Given the description of an element on the screen output the (x, y) to click on. 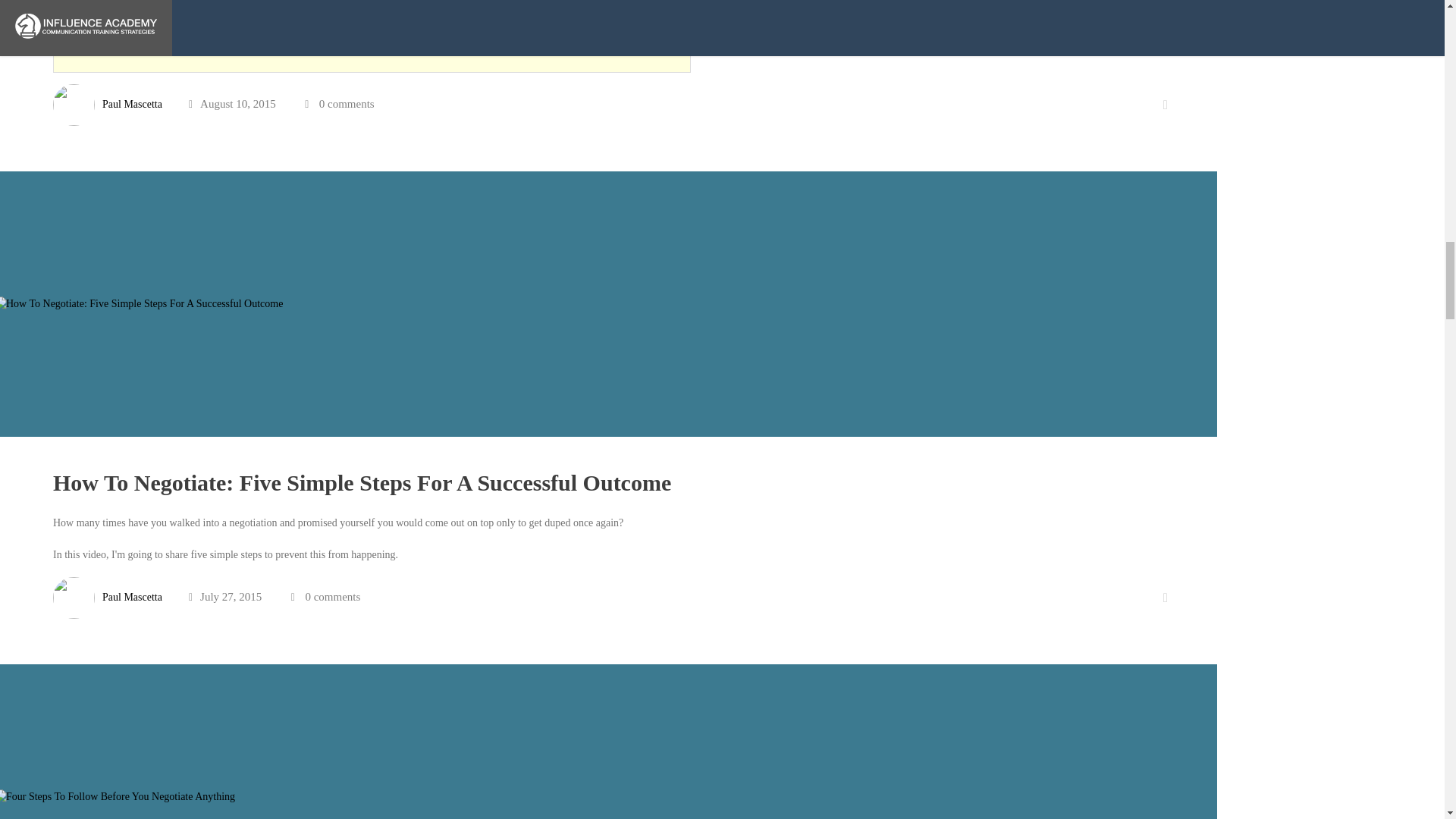
View all posts by Paul Mascetta (131, 103)
Paul Mascetta (131, 103)
5:55 pm (232, 103)
August 10, 2015 (232, 103)
Click here to access The Alliance Code Quick Start Pack (185, 37)
0 comments (346, 103)
How To Negotiate: Five Simple Steps For A Successful Outcome (361, 482)
Paul Mascetta (131, 596)
